Given the description of an element on the screen output the (x, y) to click on. 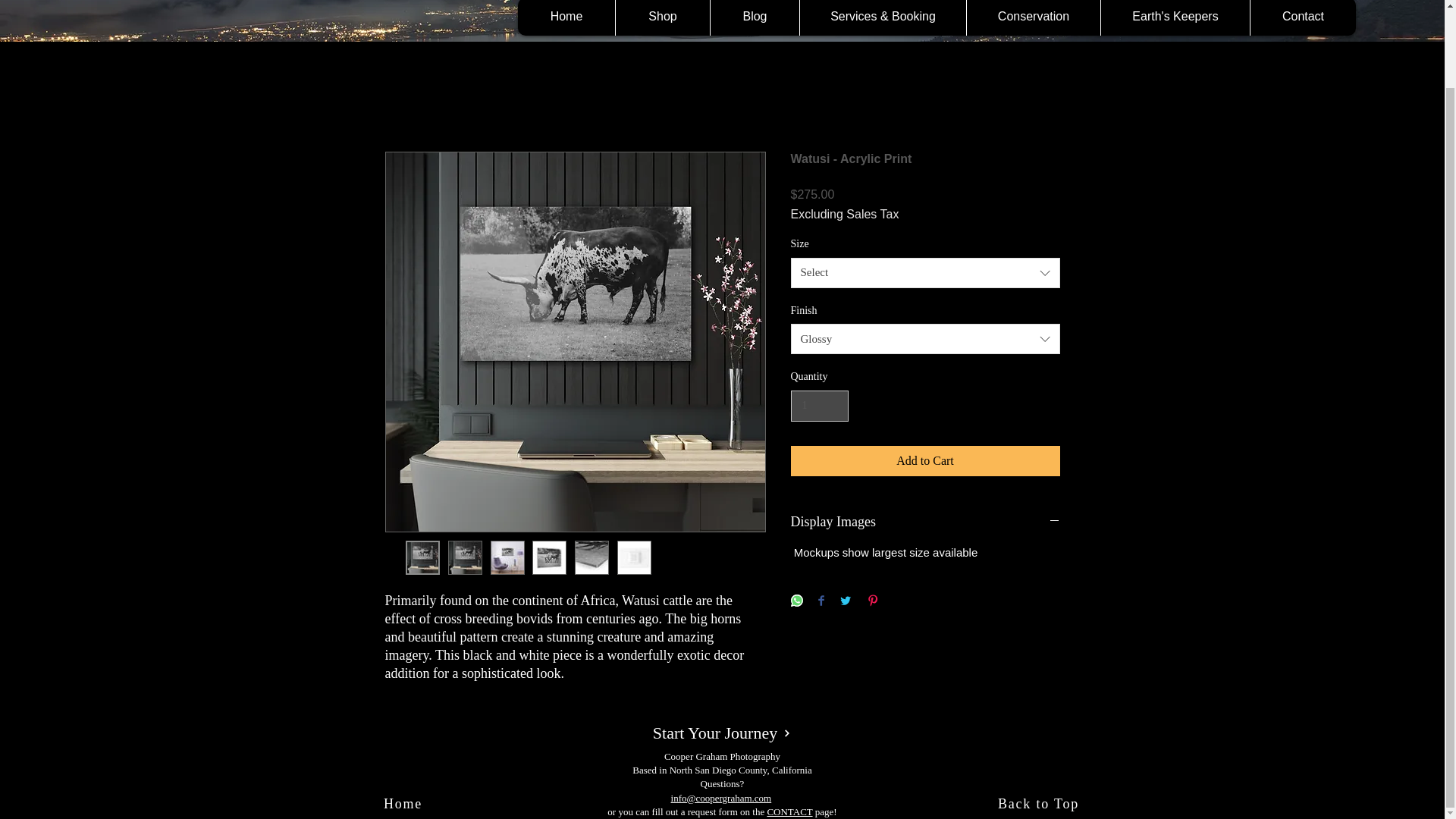
Contact (1302, 18)
Select (924, 272)
Display Images (924, 521)
Home (566, 18)
Glossy (924, 338)
Shop (662, 18)
Earth's Keepers (1174, 18)
Add to Cart (924, 460)
Blog (754, 18)
Conservation (1033, 18)
1 (818, 405)
